Given the description of an element on the screen output the (x, y) to click on. 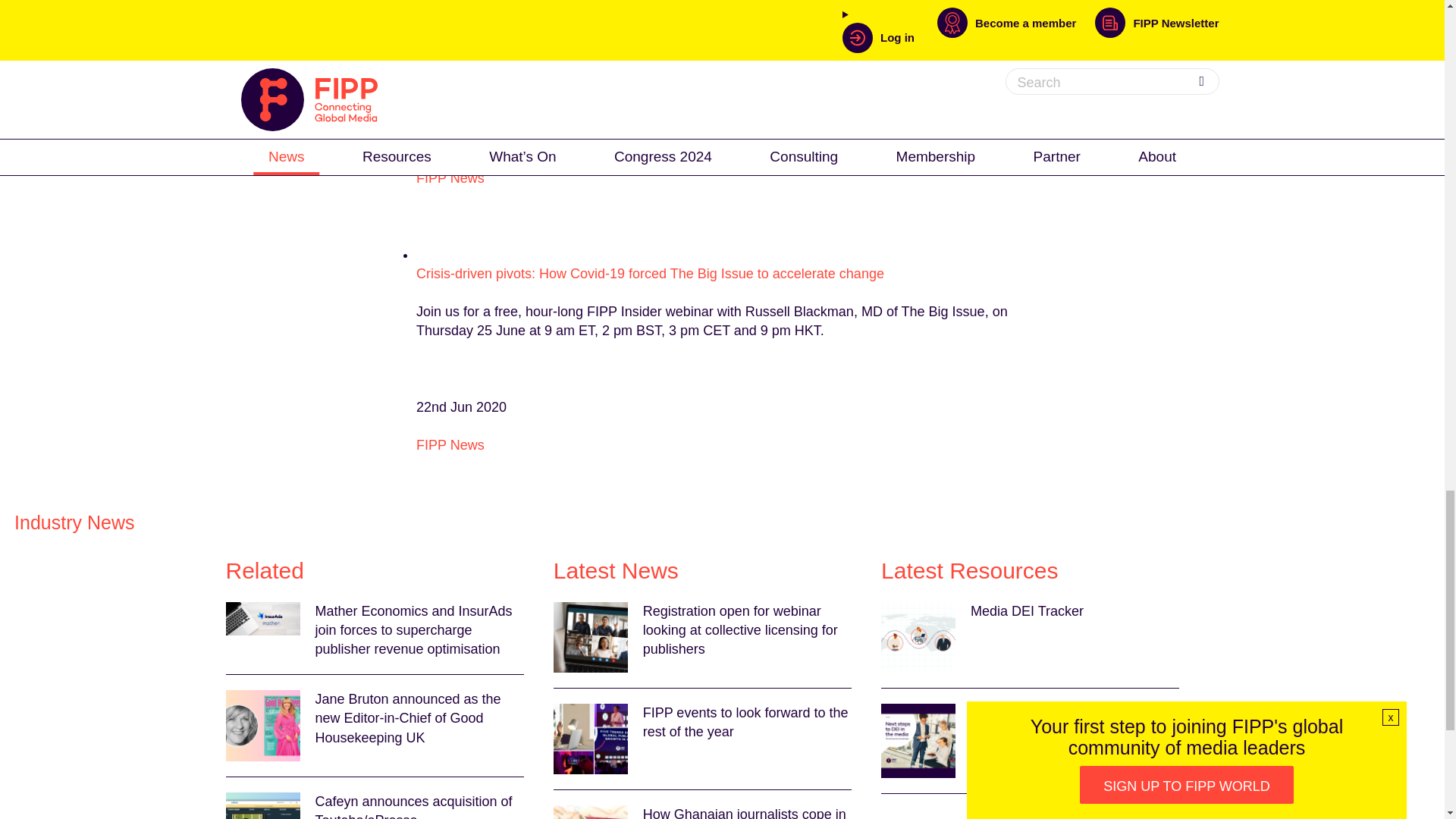
FIPP News (450, 177)
43rd FIPP World Congress (719, 53)
Industry News (73, 522)
FIPP News (450, 444)
